Given the description of an element on the screen output the (x, y) to click on. 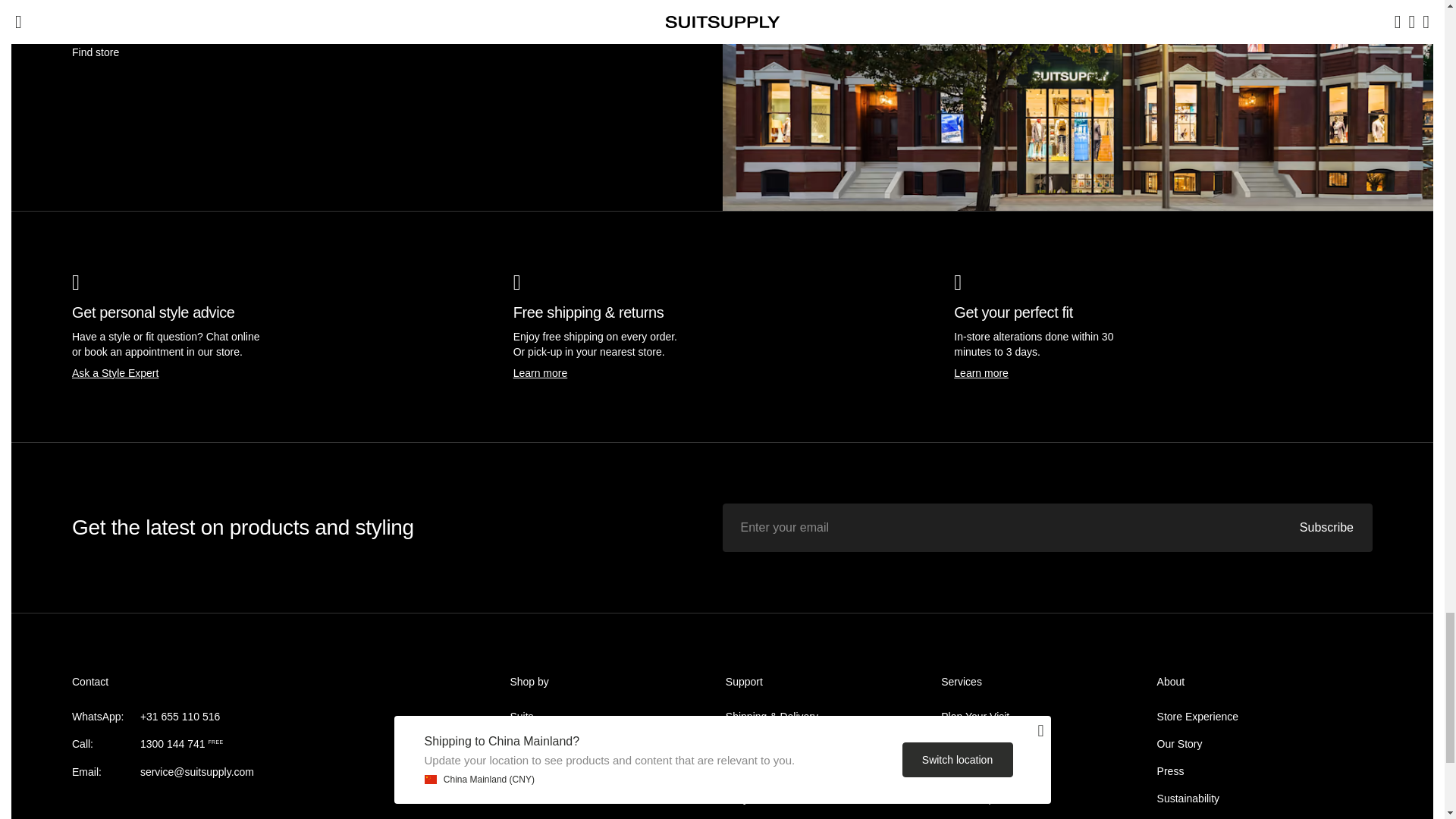
Ask a Style Expert (114, 372)
Email (196, 771)
Fast, free shipping (540, 372)
Suits (520, 716)
WhatsApp (180, 716)
1300 144 741 (172, 743)
Shirts (523, 798)
Get your perfect fit (981, 372)
Trousers (530, 770)
